Given the description of an element on the screen output the (x, y) to click on. 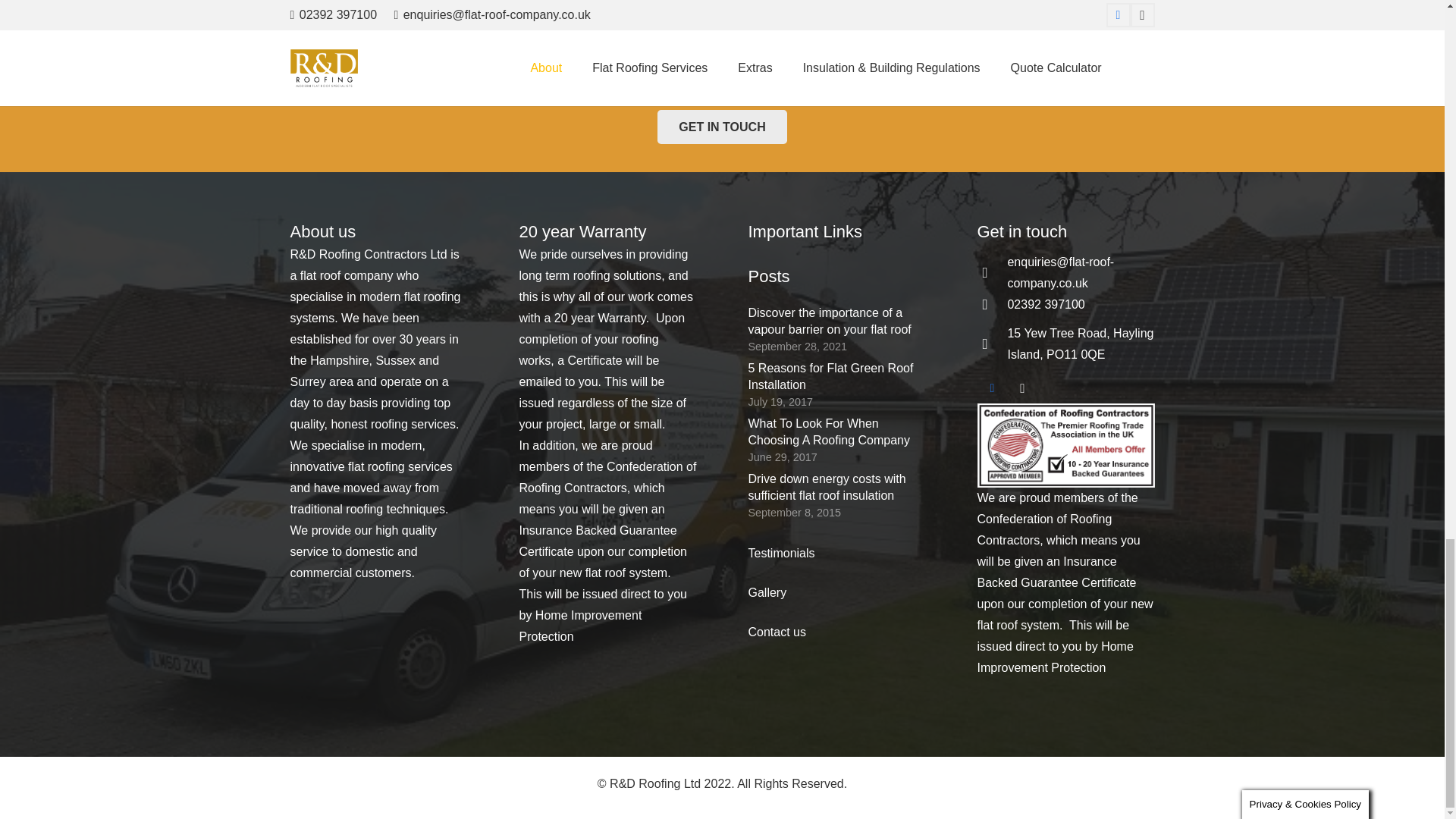
Facebook (991, 388)
Instagram (1021, 388)
Contact (722, 126)
